Given the description of an element on the screen output the (x, y) to click on. 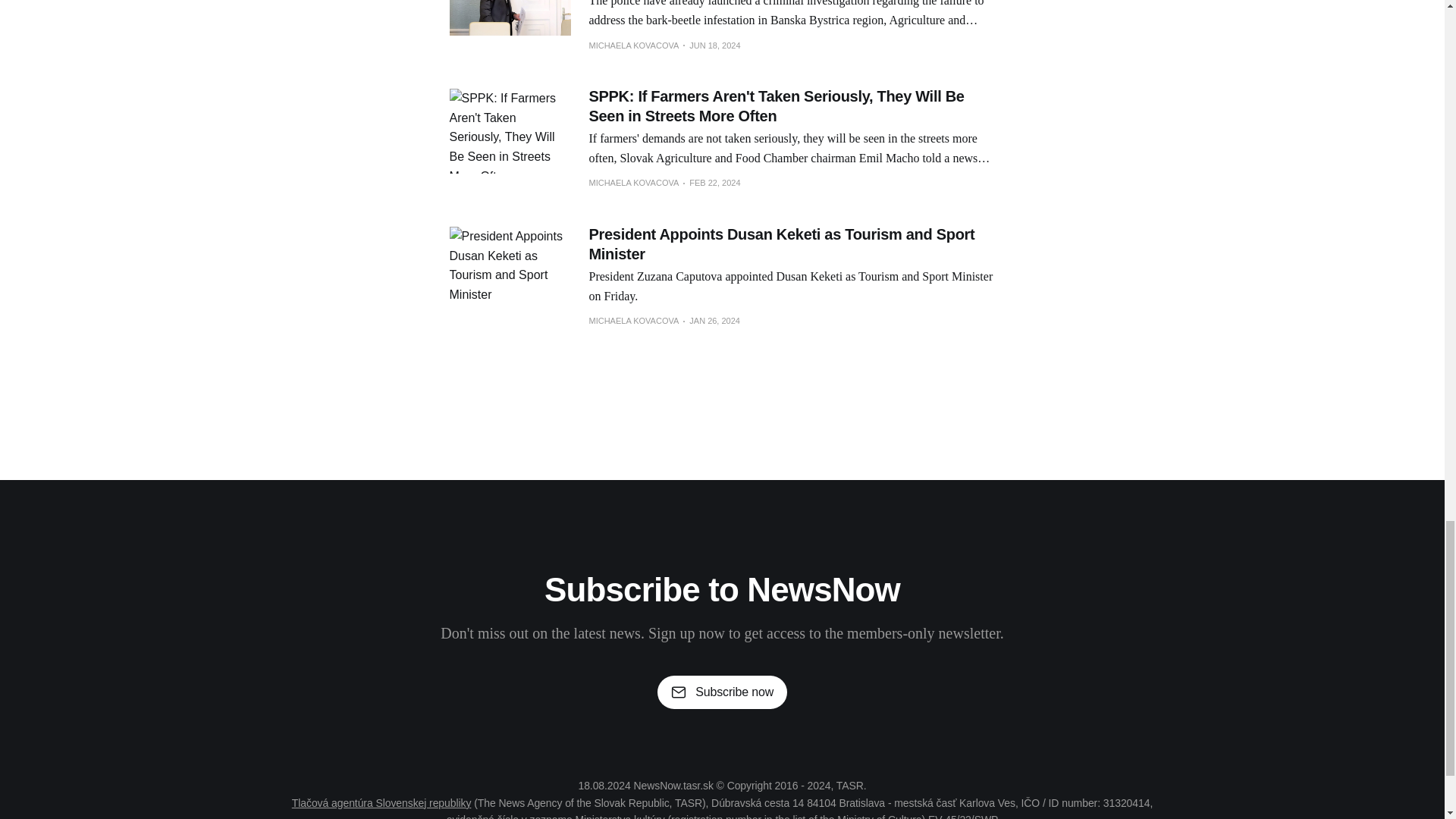
Subscribe now (722, 692)
